Given the description of an element on the screen output the (x, y) to click on. 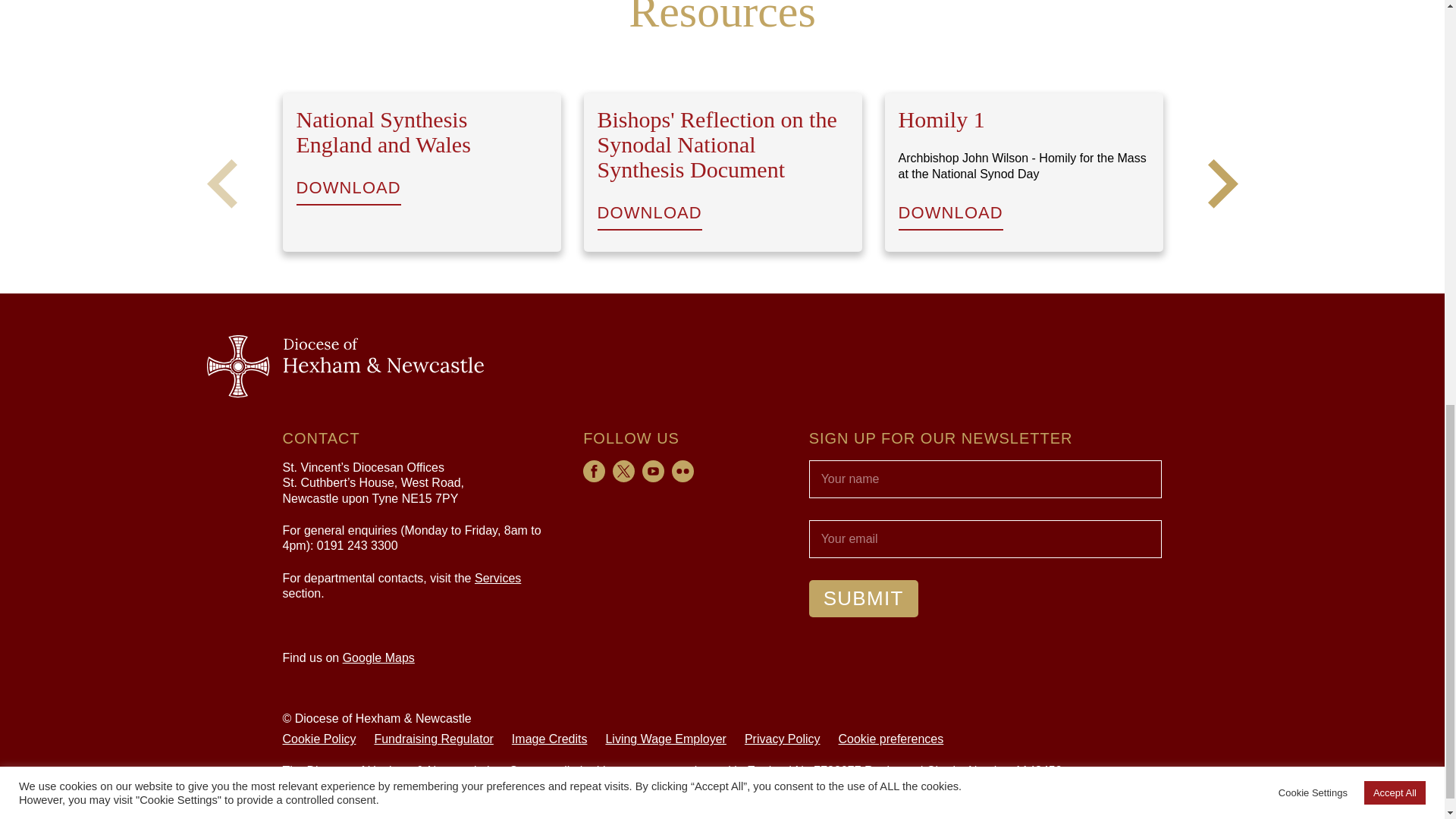
Submit (863, 598)
